Given the description of an element on the screen output the (x, y) to click on. 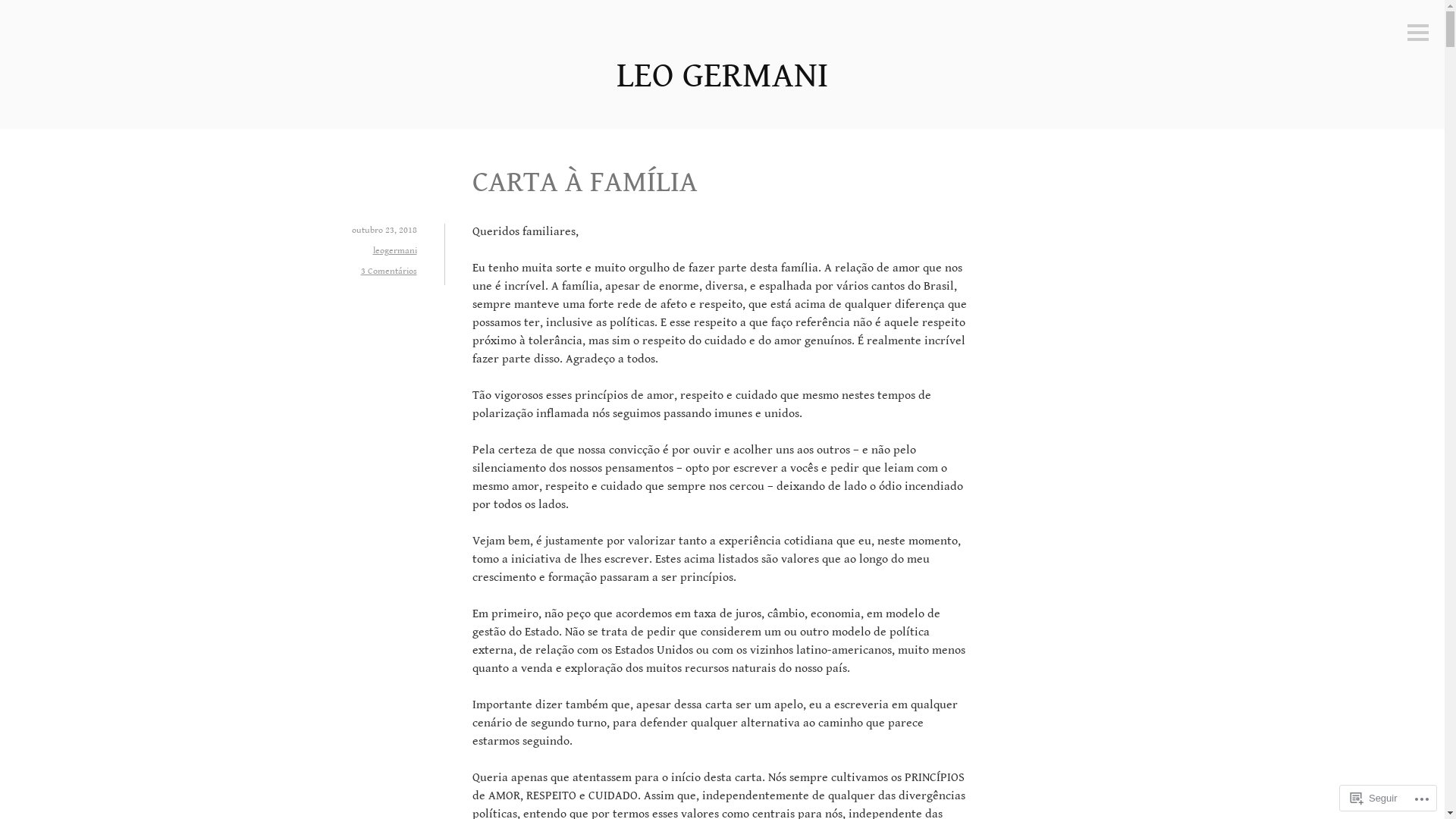
Seguir Element type: text (1373, 797)
Pesquisar Element type: text (39, 12)
Lateral Element type: hover (1417, 33)
LEO GERMANI Element type: text (722, 75)
leogermani Element type: text (395, 250)
outubro 23, 2018 Element type: text (384, 229)
